Given the description of an element on the screen output the (x, y) to click on. 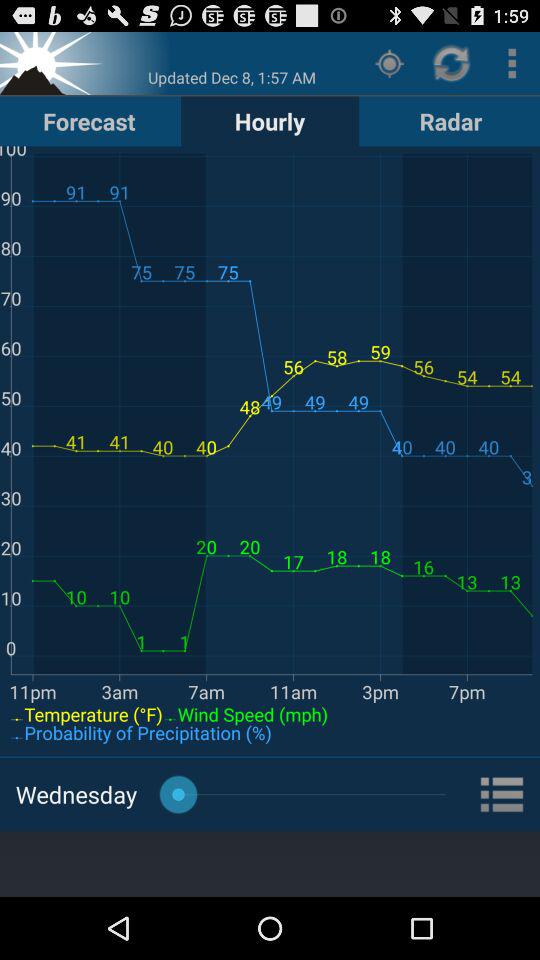
select icon to the right of hourly item (450, 120)
